Given the description of an element on the screen output the (x, y) to click on. 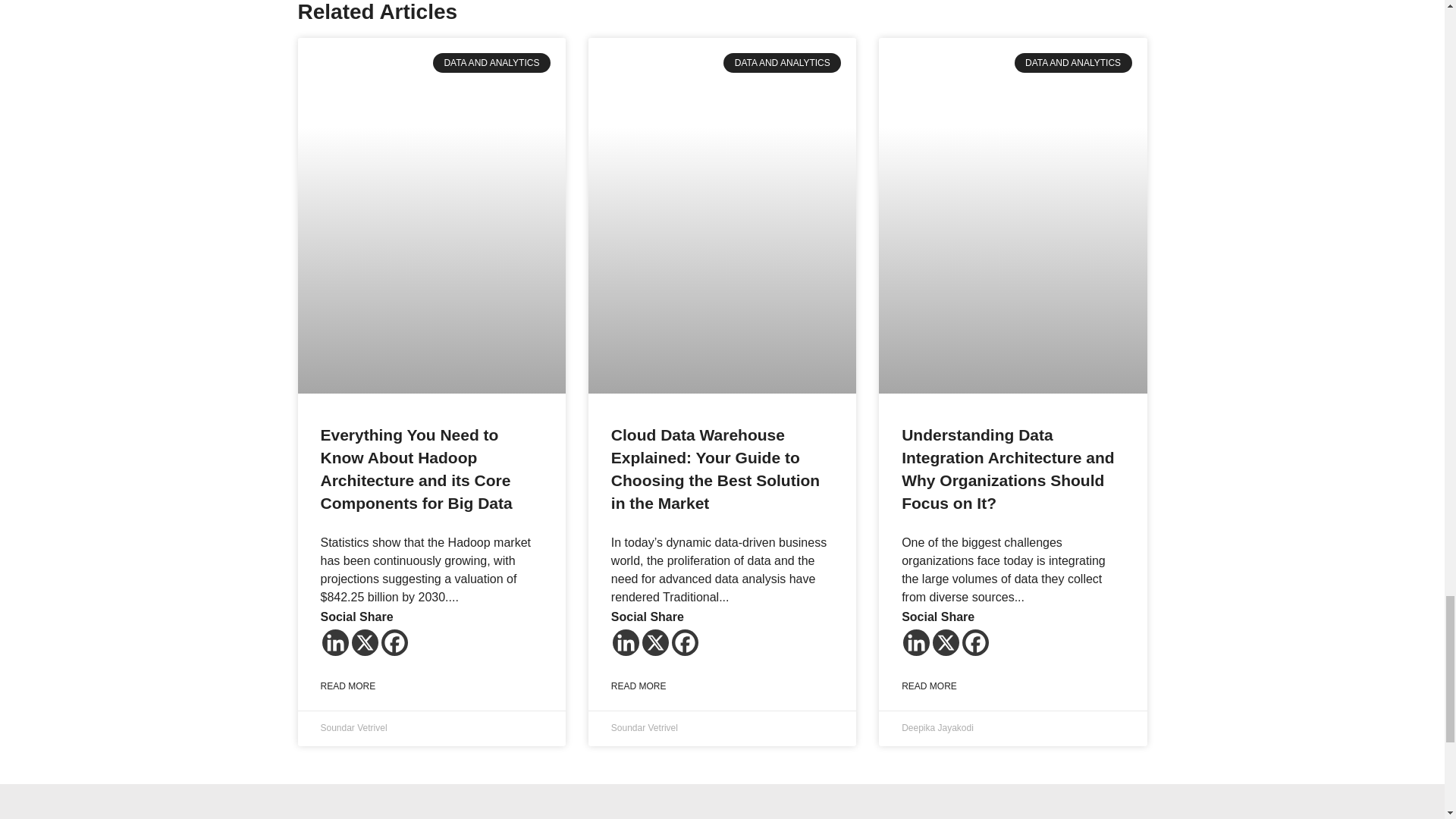
Linkedin (625, 642)
Facebook (684, 642)
X (655, 642)
Linkedin (916, 642)
X (365, 642)
X (946, 642)
Facebook (975, 642)
Facebook (393, 642)
Linkedin (334, 642)
